Given the description of an element on the screen output the (x, y) to click on. 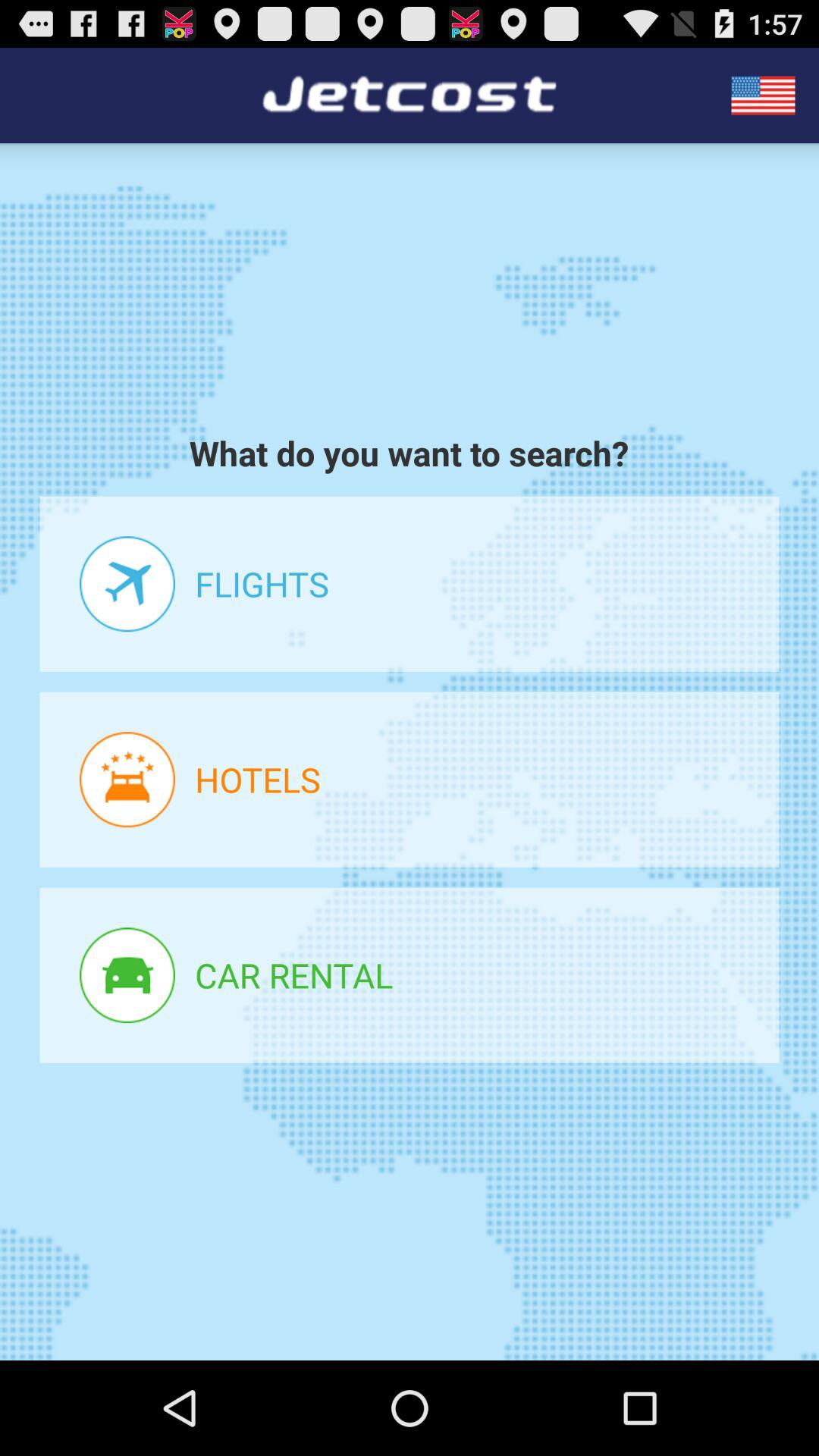
change nation setting (763, 95)
